Given the description of an element on the screen output the (x, y) to click on. 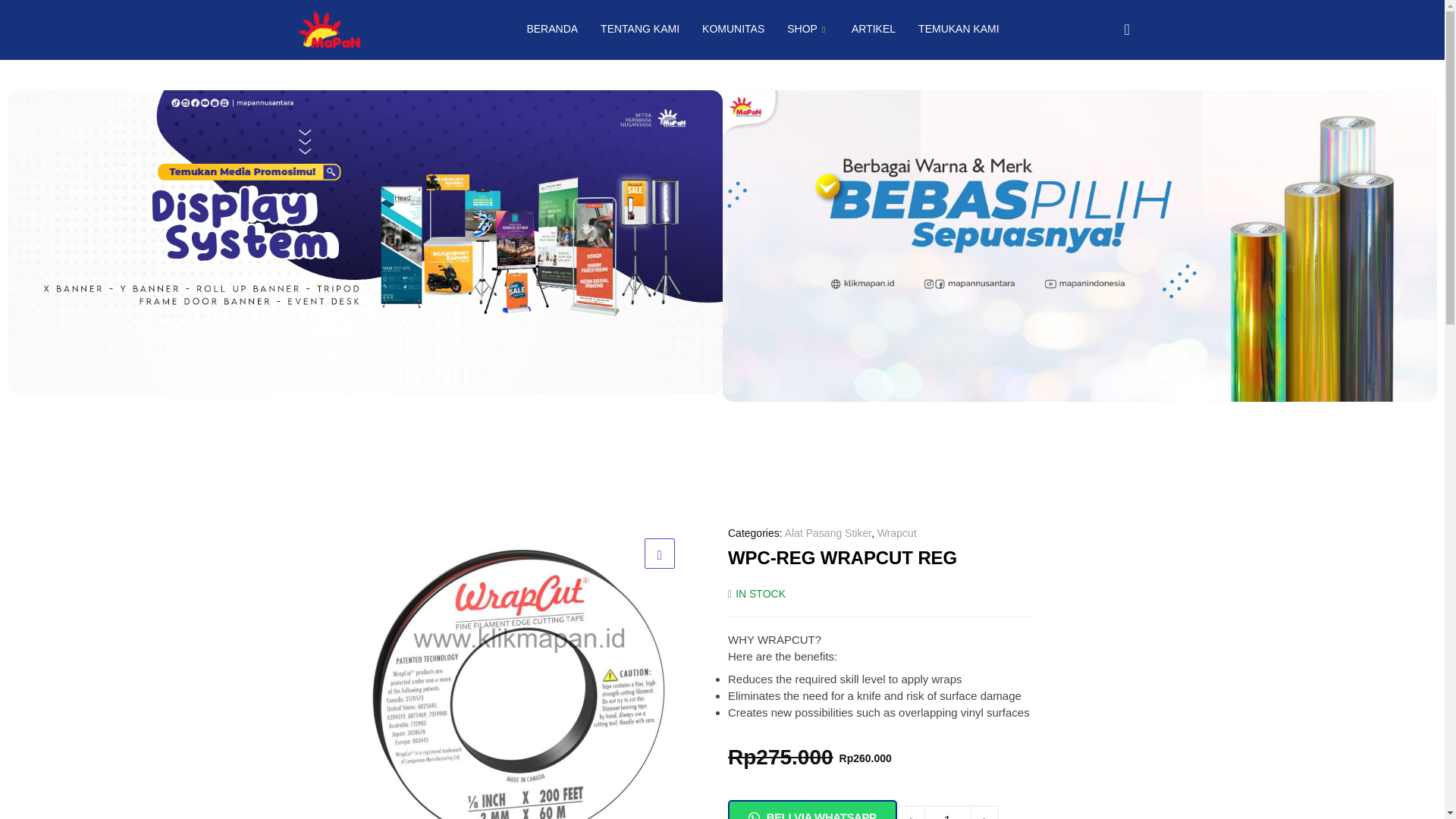
ARTIKEL (873, 29)
TENTANG KAMI (639, 29)
1 (947, 812)
KOMUNITAS (733, 29)
BERANDA (552, 29)
Wrapcut (897, 532)
TEMUKAN KAMI (958, 29)
Alat Pasang Stiker (827, 532)
wrapcut white (518, 671)
SHOP (808, 29)
